Given the description of an element on the screen output the (x, y) to click on. 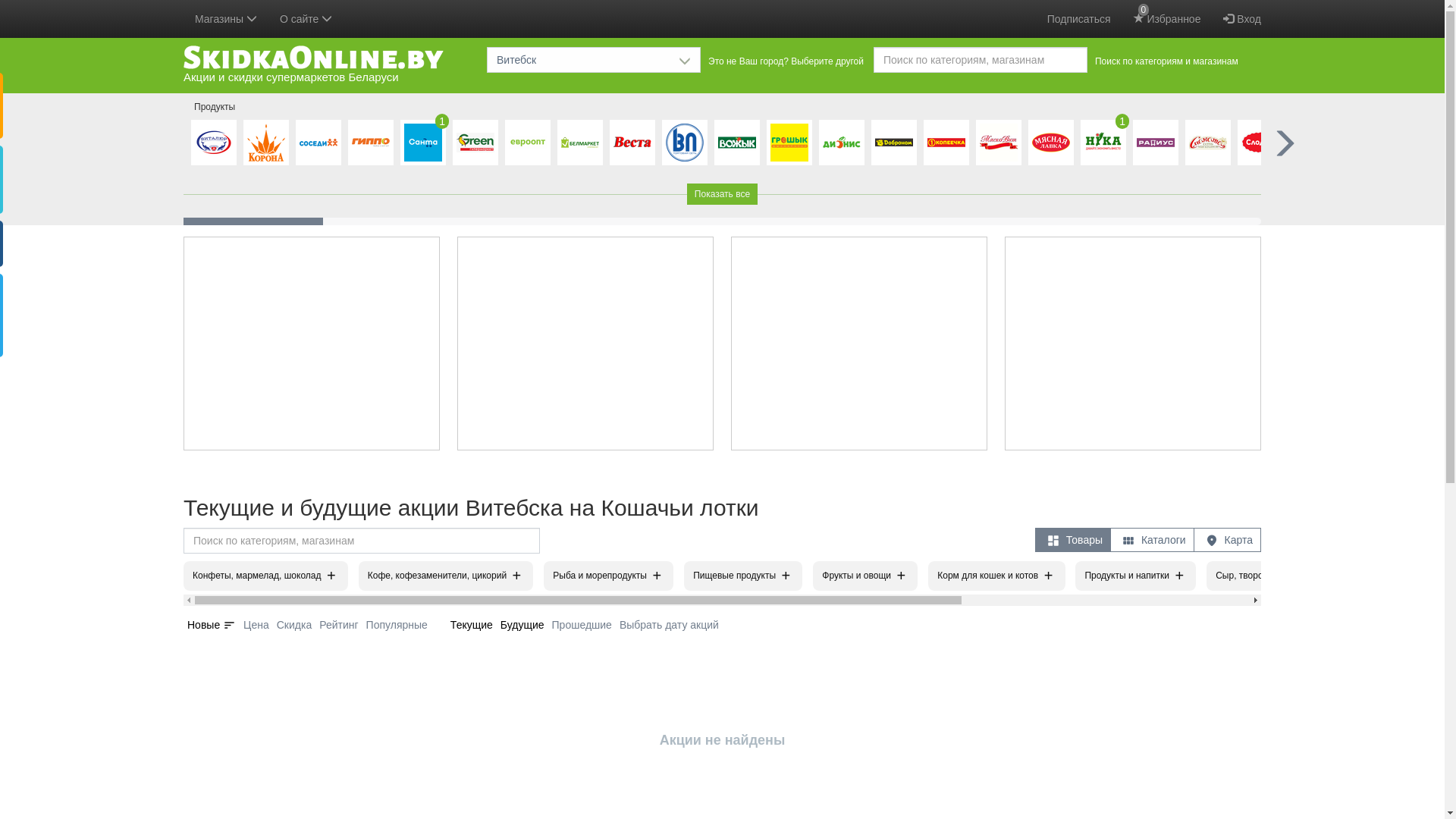
Advertisement Element type: hover (1132, 343)
Advertisement Element type: hover (585, 343)
Advertisement Element type: hover (311, 343)
Advertisement Element type: hover (858, 343)
Green Element type: hover (475, 142)
